Given the description of an element on the screen output the (x, y) to click on. 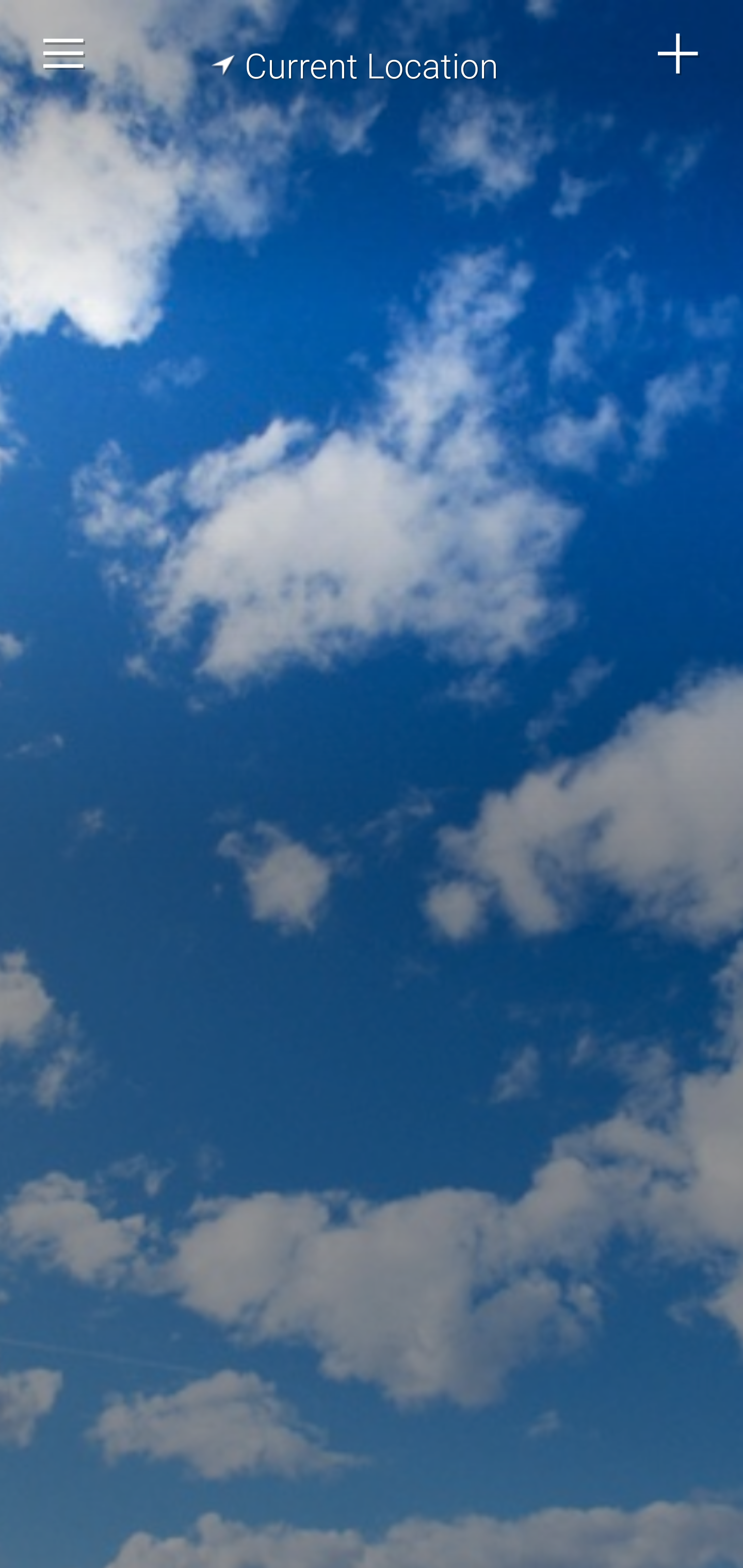
Sidebar (64, 54)
Add City (678, 53)
